Given the description of an element on the screen output the (x, y) to click on. 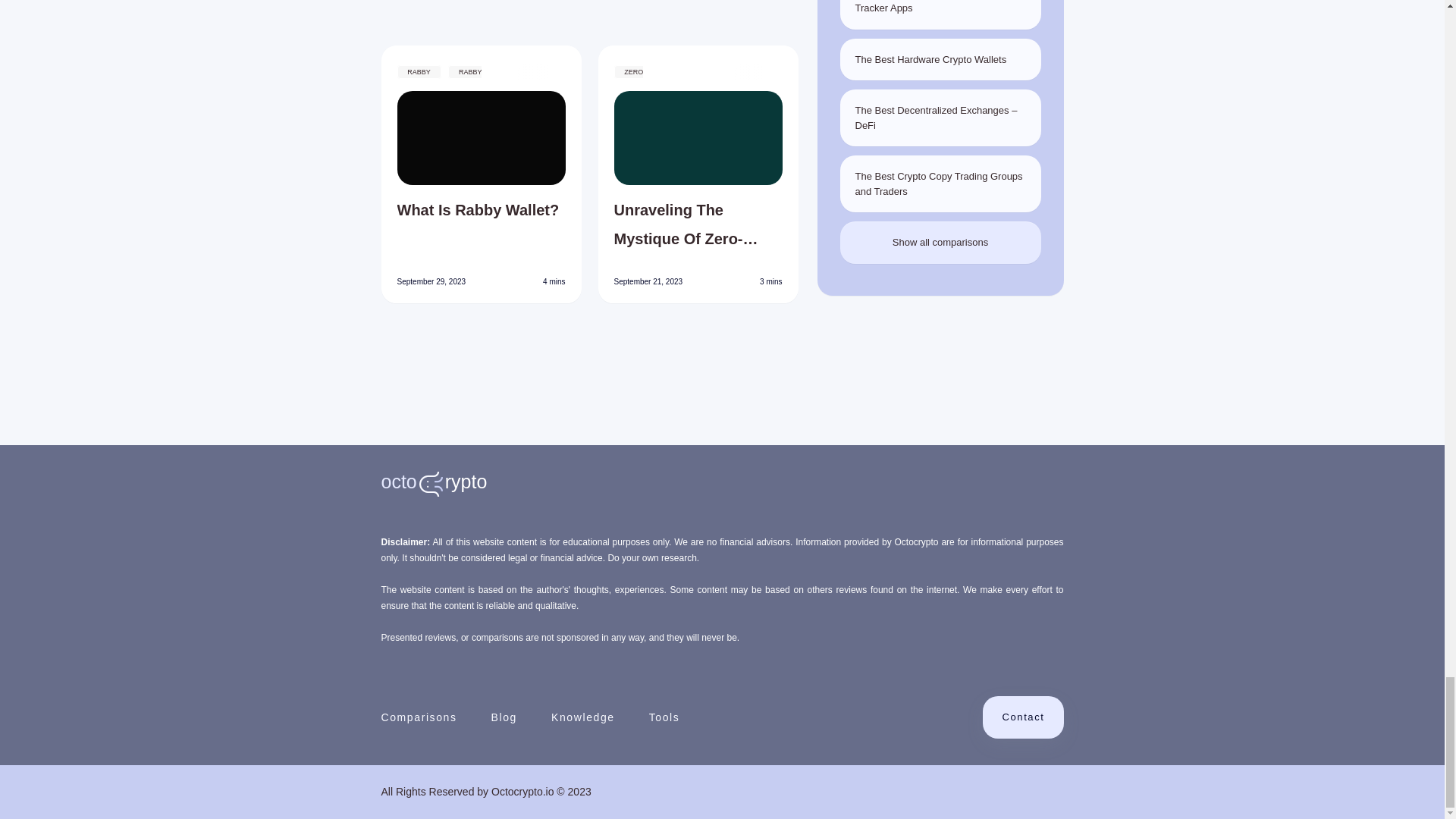
Unraveling The Mystique Of Zero-Knowledge Rollups (698, 224)
What Is Rabby Wallet? (481, 224)
RABBY WALLET (439, 81)
RABBY (419, 71)
ZERO KNOWLEDGE (641, 81)
